Given the description of an element on the screen output the (x, y) to click on. 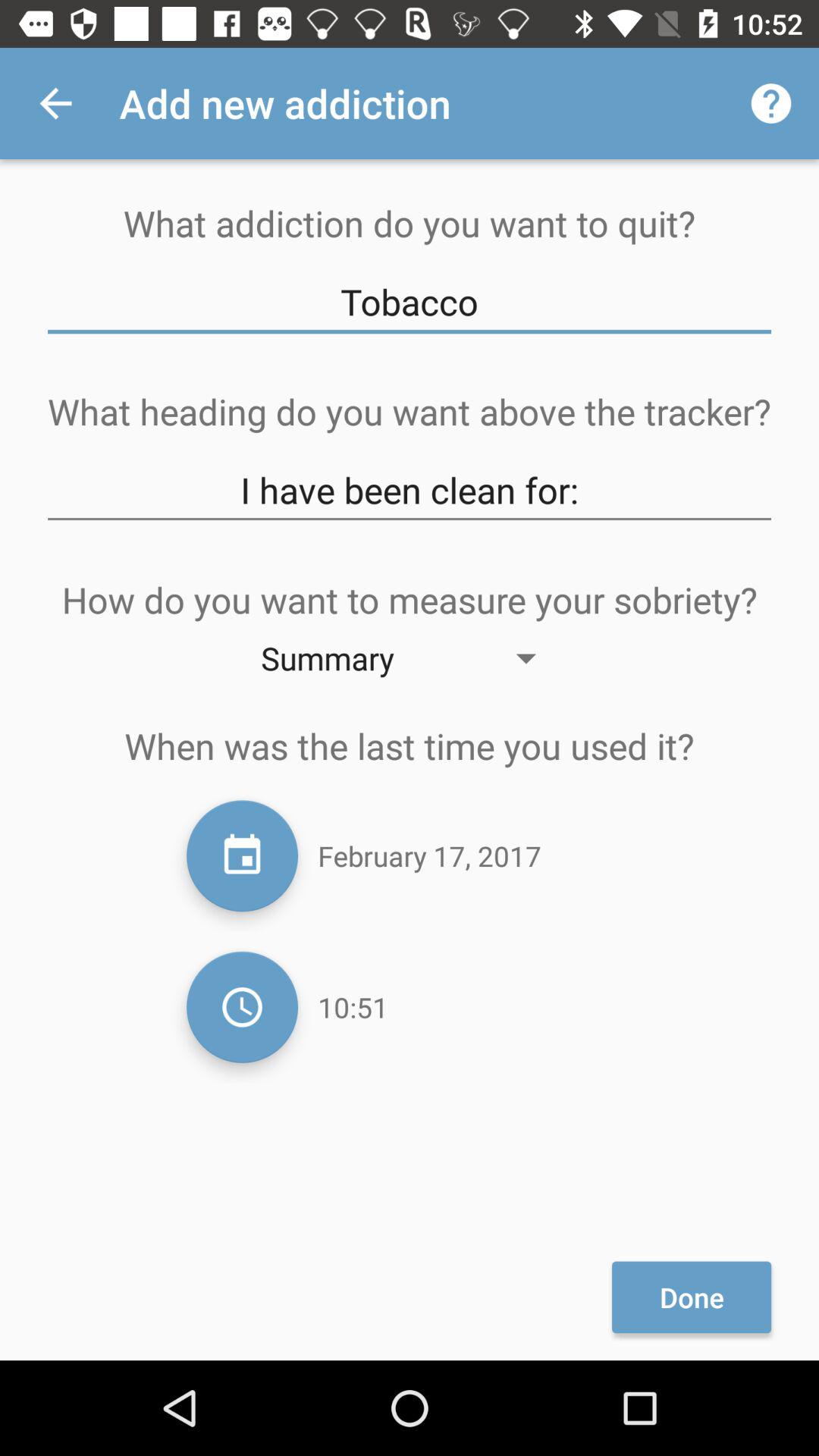
choose date (242, 855)
